Given the description of an element on the screen output the (x, y) to click on. 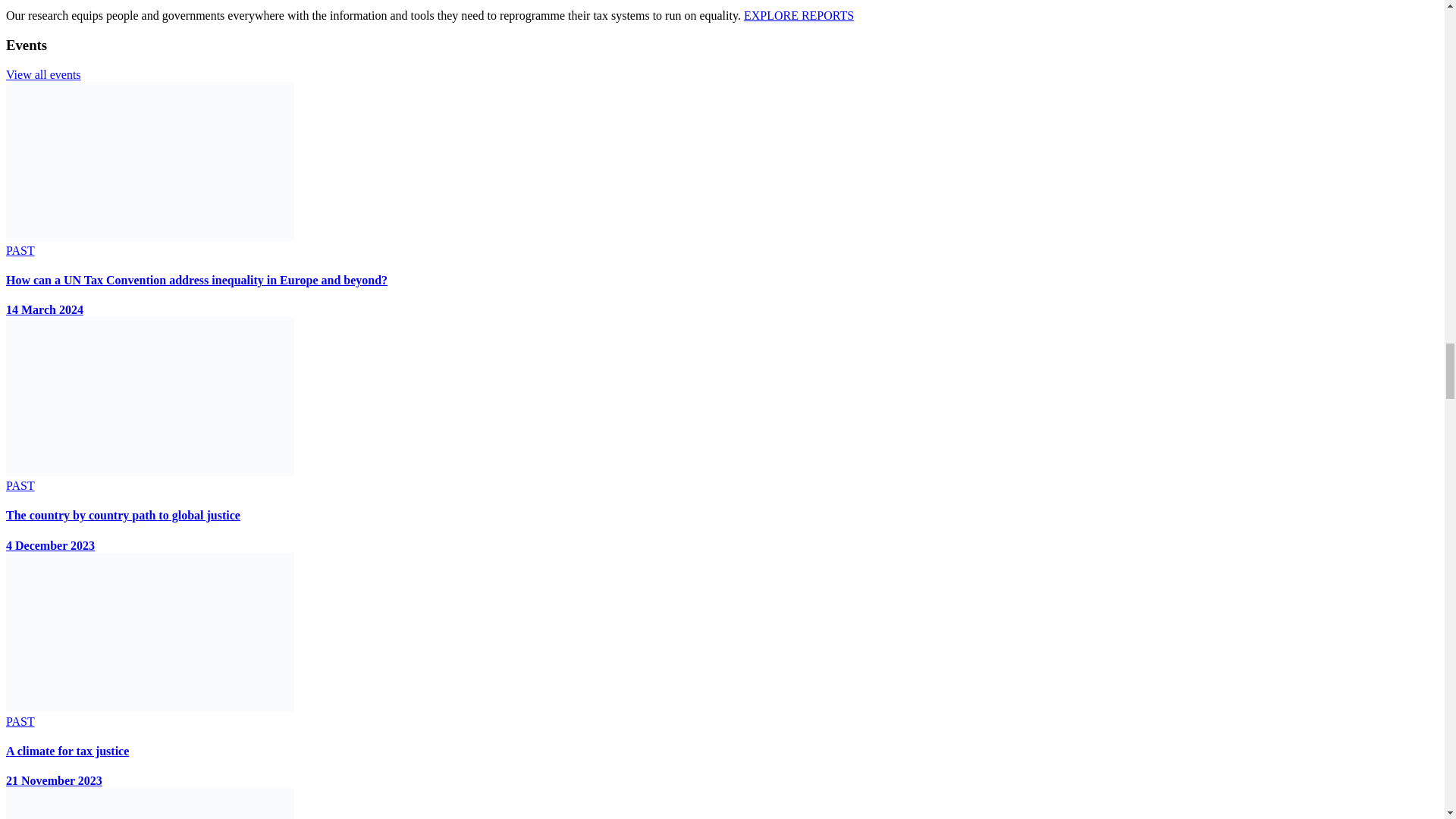
Climate website event card (149, 631)
CFP24 website banner 6 logo (149, 160)
